Given the description of an element on the screen output the (x, y) to click on. 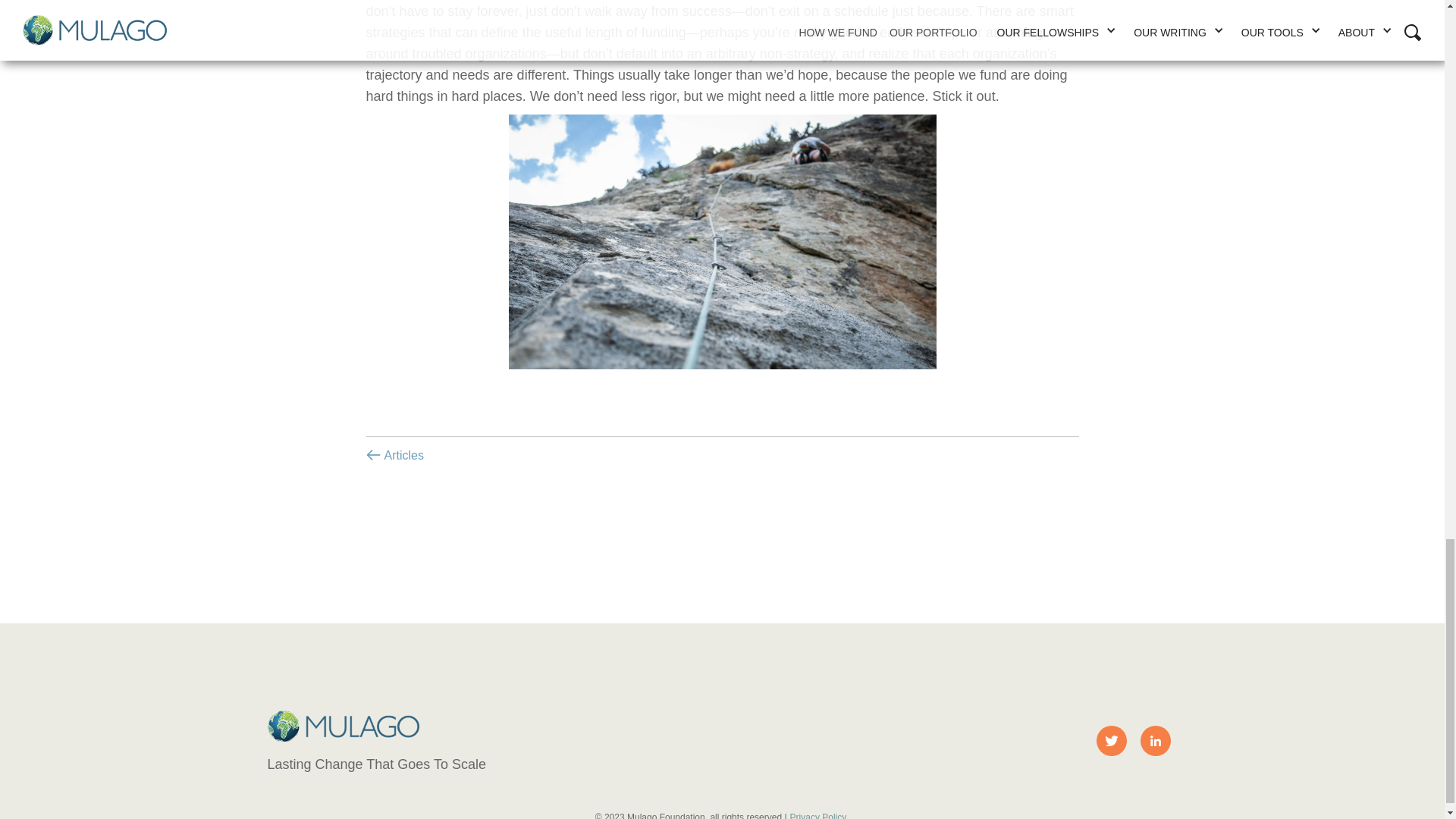
Privacy Policy (820, 810)
Articles (399, 455)
